Given the description of an element on the screen output the (x, y) to click on. 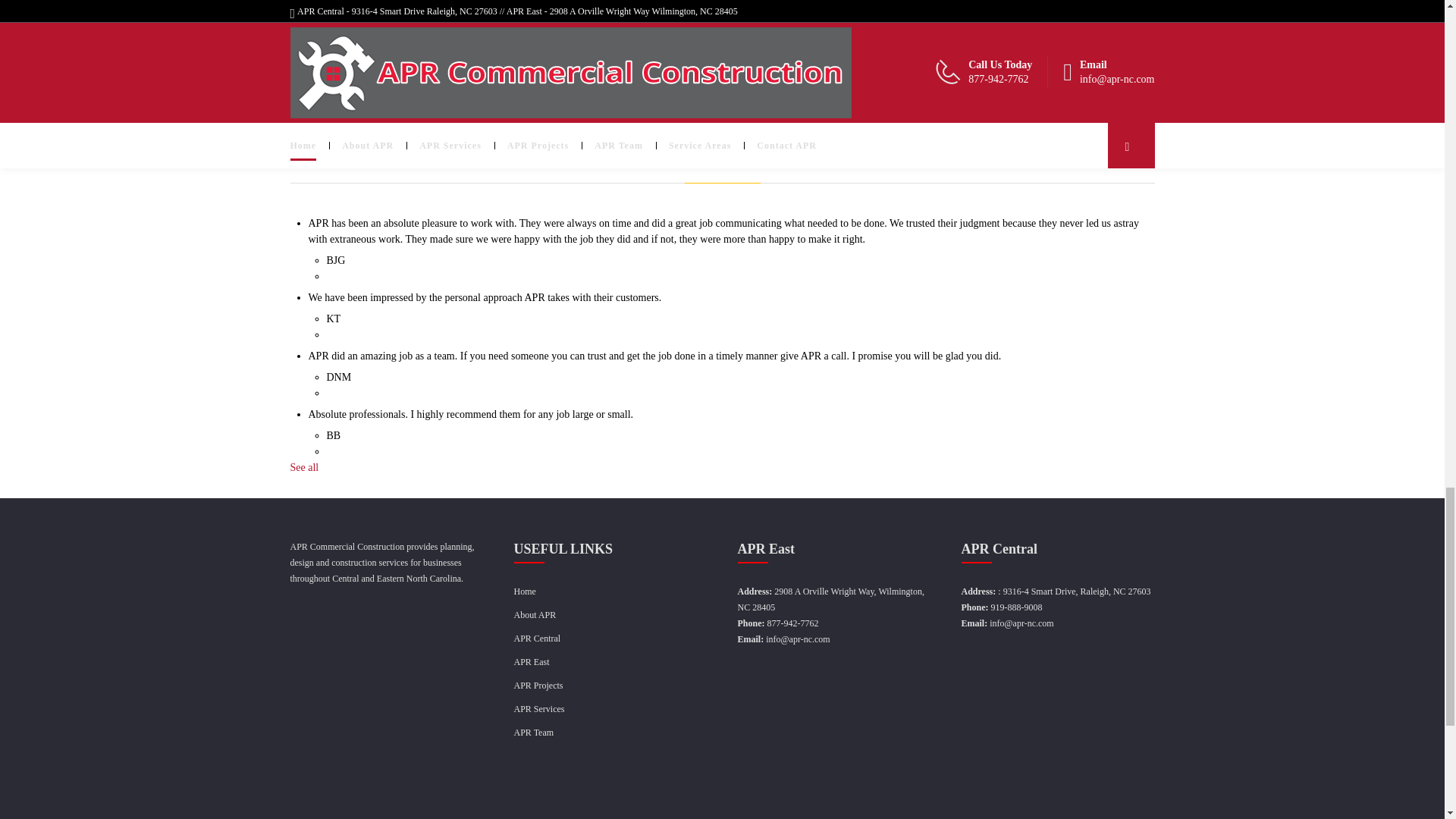
APR Services (538, 708)
About APR (534, 614)
APR Central (536, 638)
APR Projects (538, 685)
919-888-9008 (1016, 606)
Home (524, 591)
APR East (531, 661)
877-942-7762 (792, 623)
See all (303, 467)
APR Team (533, 732)
